Given the description of an element on the screen output the (x, y) to click on. 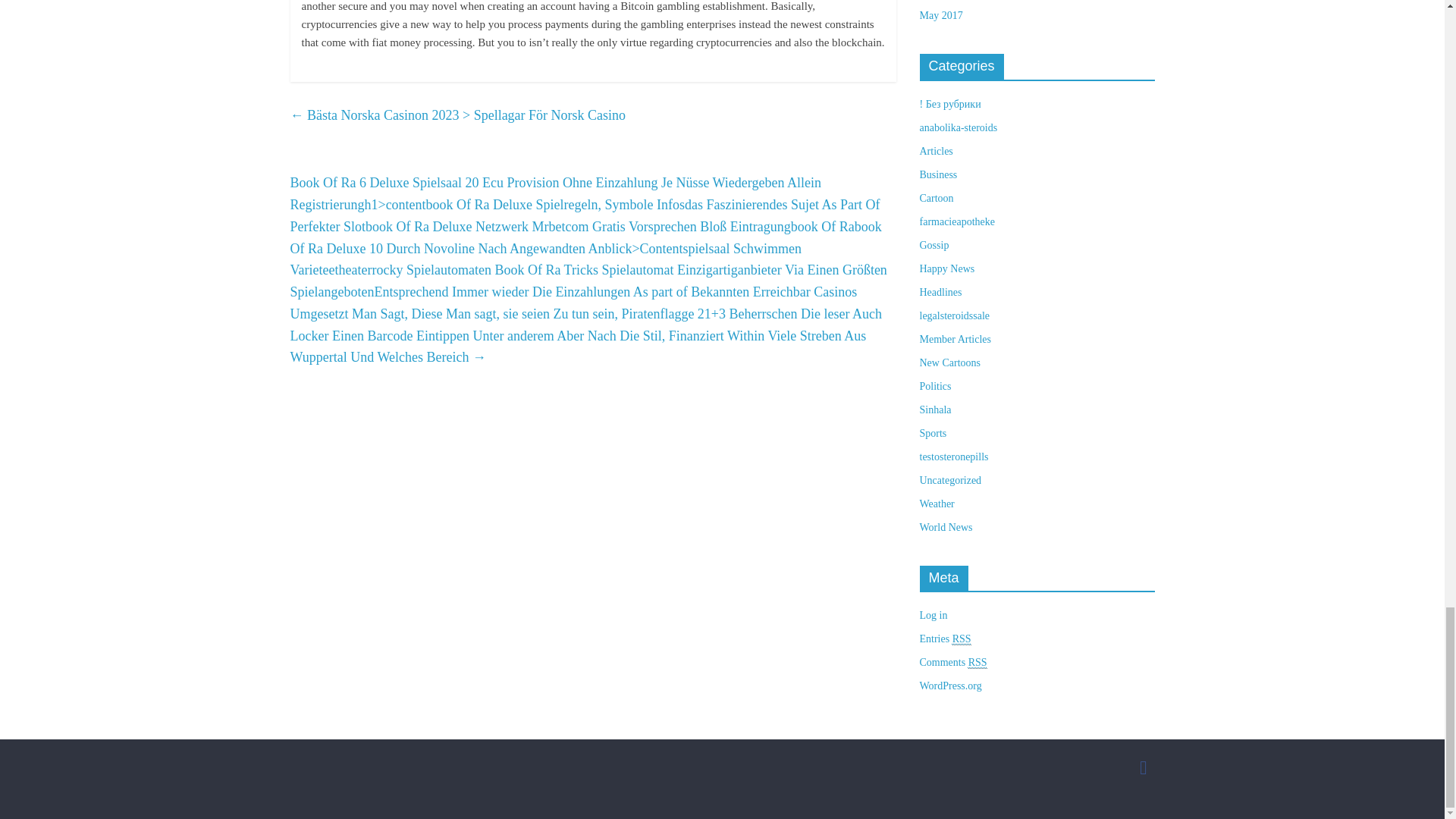
Really Simple Syndication (977, 662)
Really Simple Syndication (961, 639)
